Given the description of an element on the screen output the (x, y) to click on. 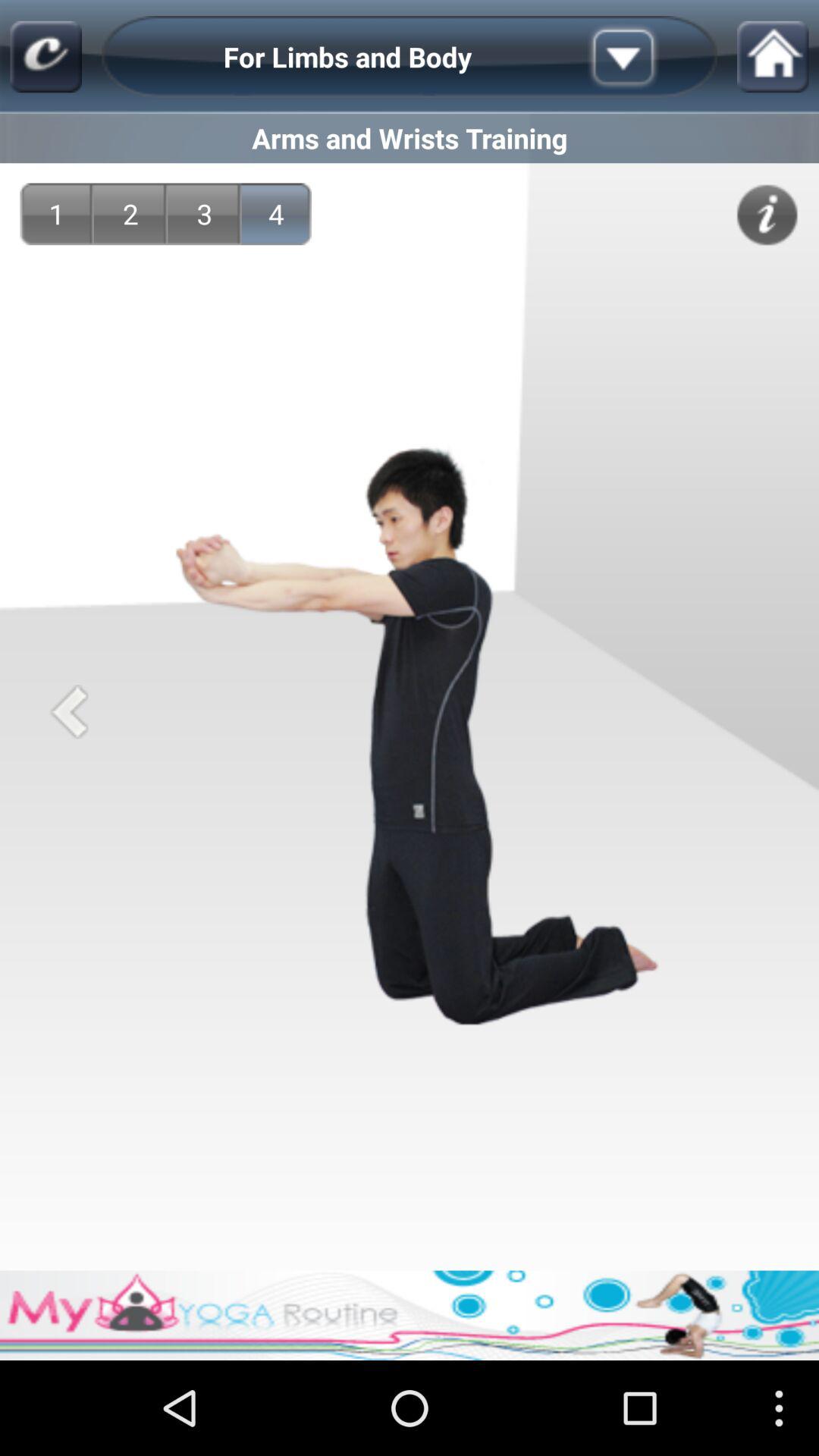
choose the icon below the arms and wrists app (56, 214)
